Given the description of an element on the screen output the (x, y) to click on. 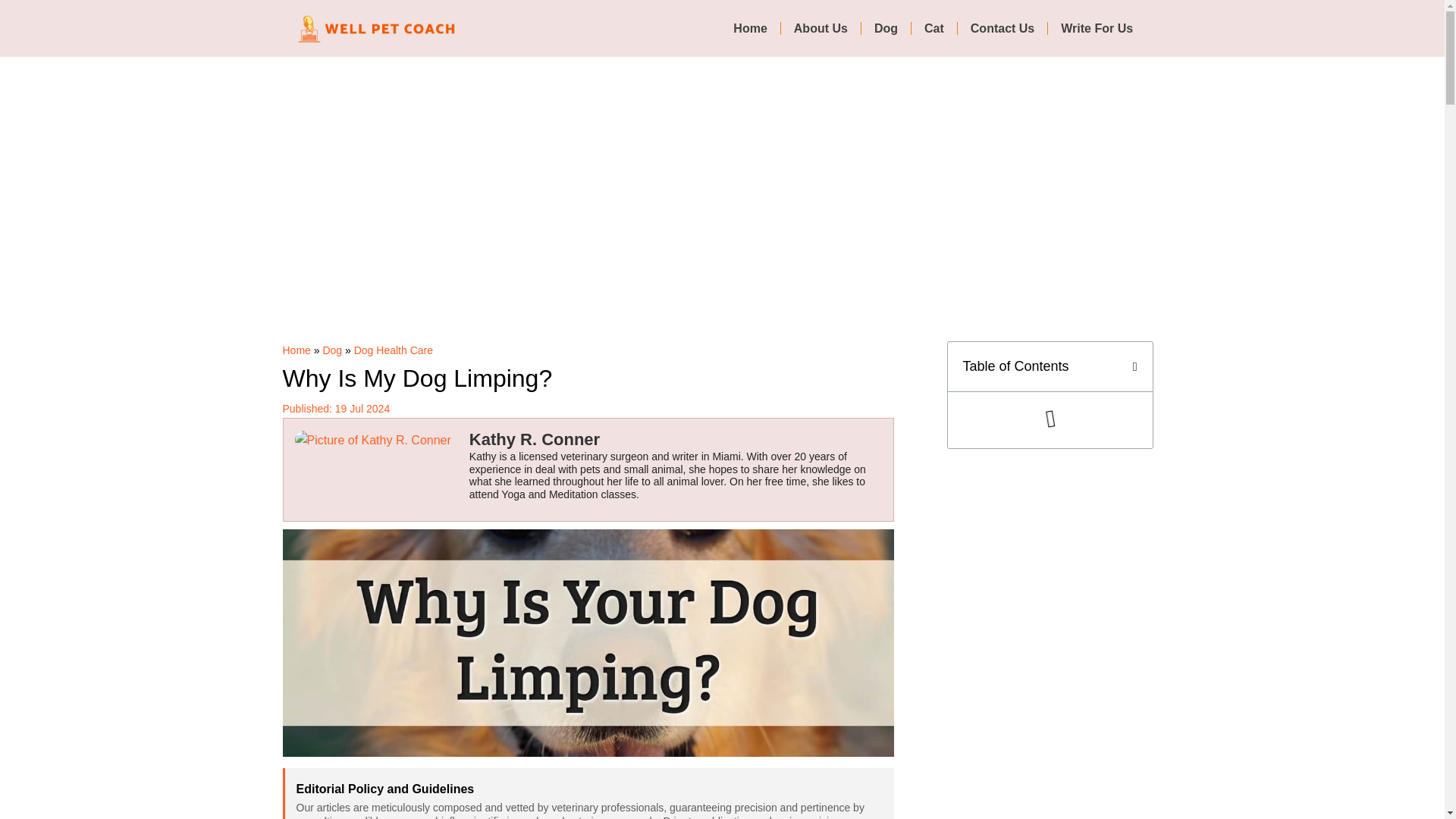
Cat (933, 27)
Kathy R. Conner (533, 440)
Dog (886, 27)
Contact Us (1002, 27)
Dog (331, 349)
About Us (820, 27)
Dog (331, 349)
Write For Us (1096, 27)
Home (296, 349)
Home (749, 27)
Home (296, 349)
Dog Health Care (392, 349)
Dog Health Care (392, 349)
